Given the description of an element on the screen output the (x, y) to click on. 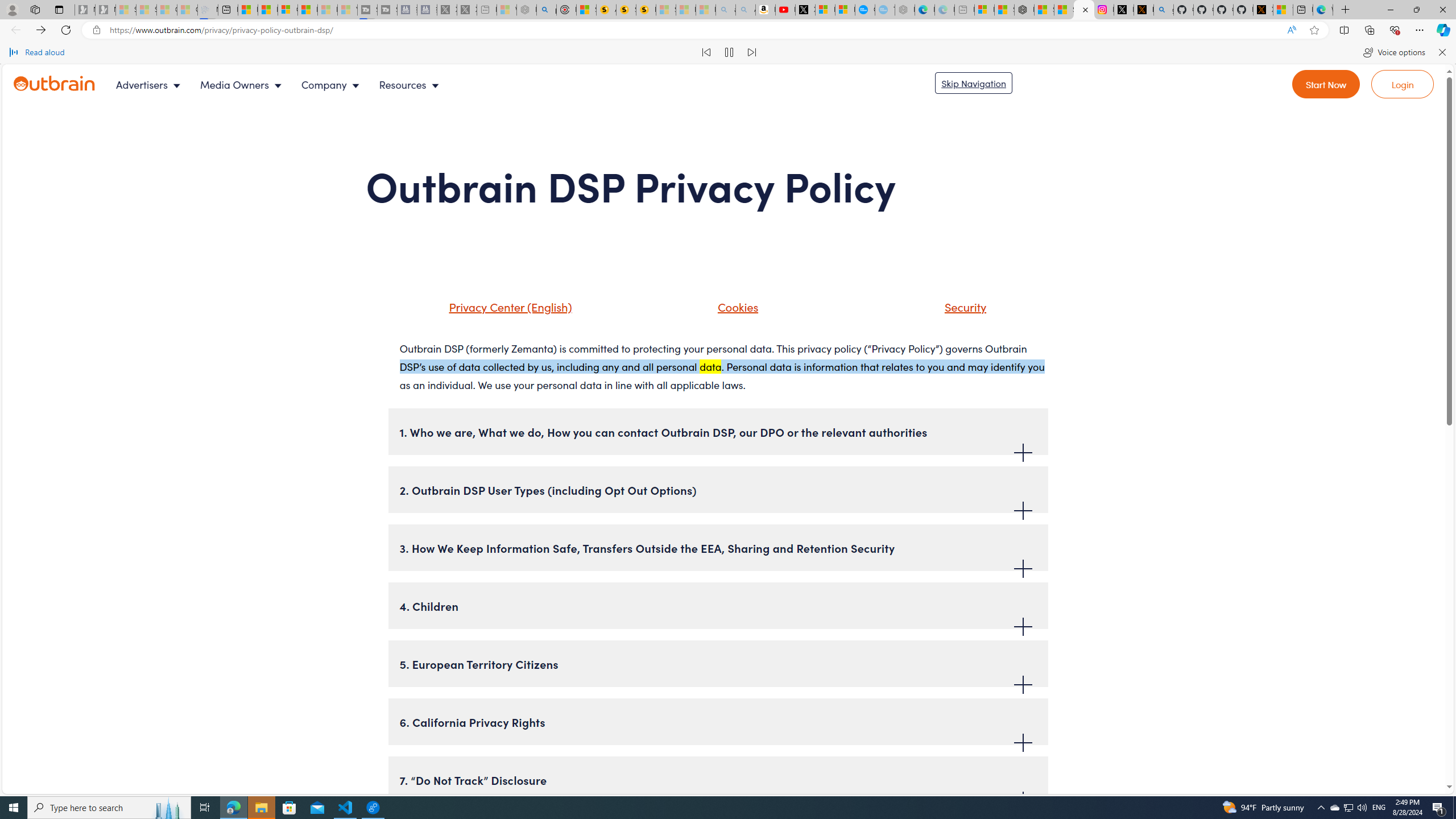
Nordace - Duffels (1024, 9)
Main Navigation (287, 84)
Security (951, 311)
Resources (411, 84)
Close read aloud (1441, 52)
